Given the description of an element on the screen output the (x, y) to click on. 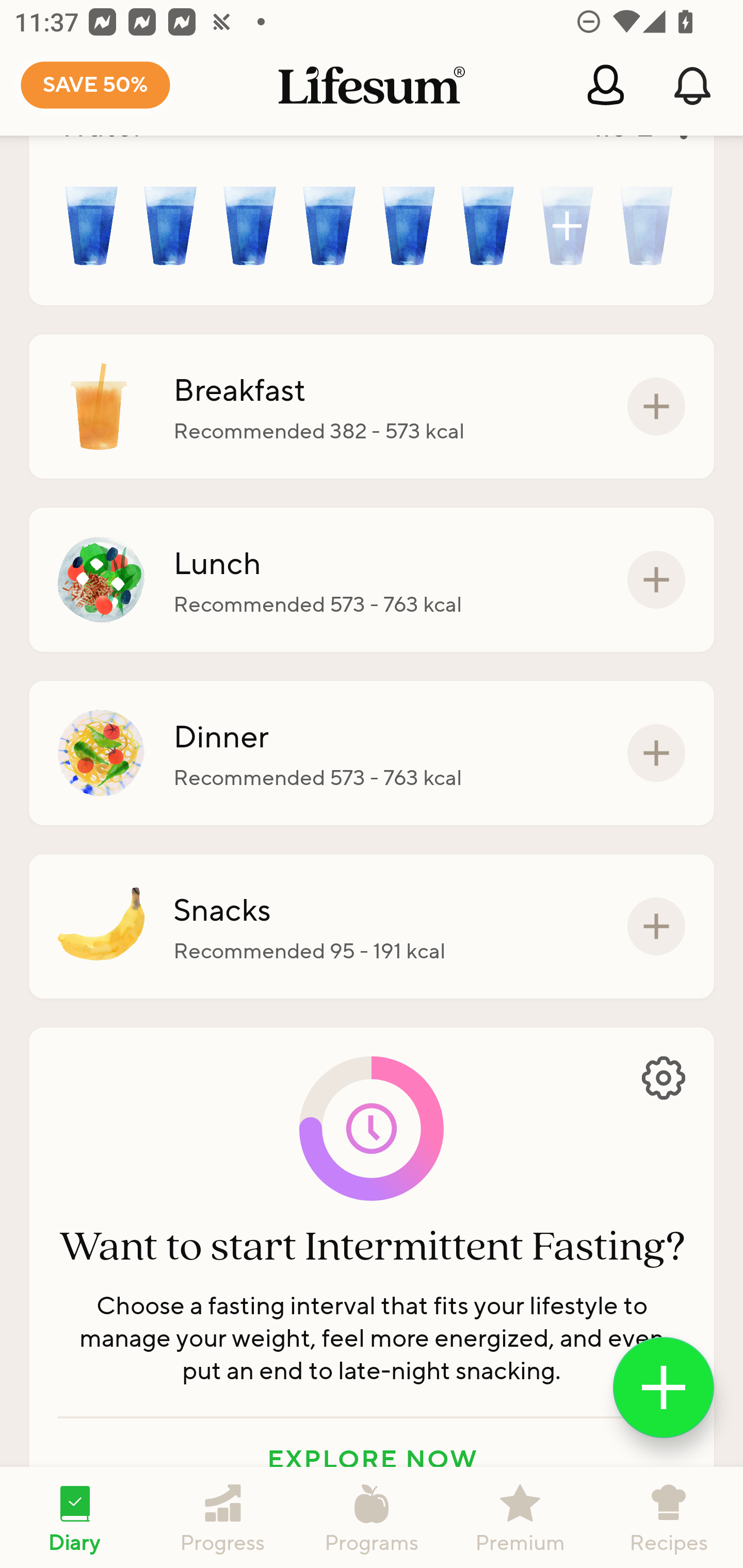
Breakfast Recommended 382 - 573 kcal (371, 405)
Lunch Recommended 573 - 763 kcal (371, 580)
Dinner Recommended 573 - 763 kcal (371, 752)
Snacks Recommended 95 - 191 kcal (371, 926)
EXPLORE NOW (371, 1459)
Progress (222, 1517)
Programs (371, 1517)
Premium (519, 1517)
Recipes (668, 1517)
